Given the description of an element on the screen output the (x, y) to click on. 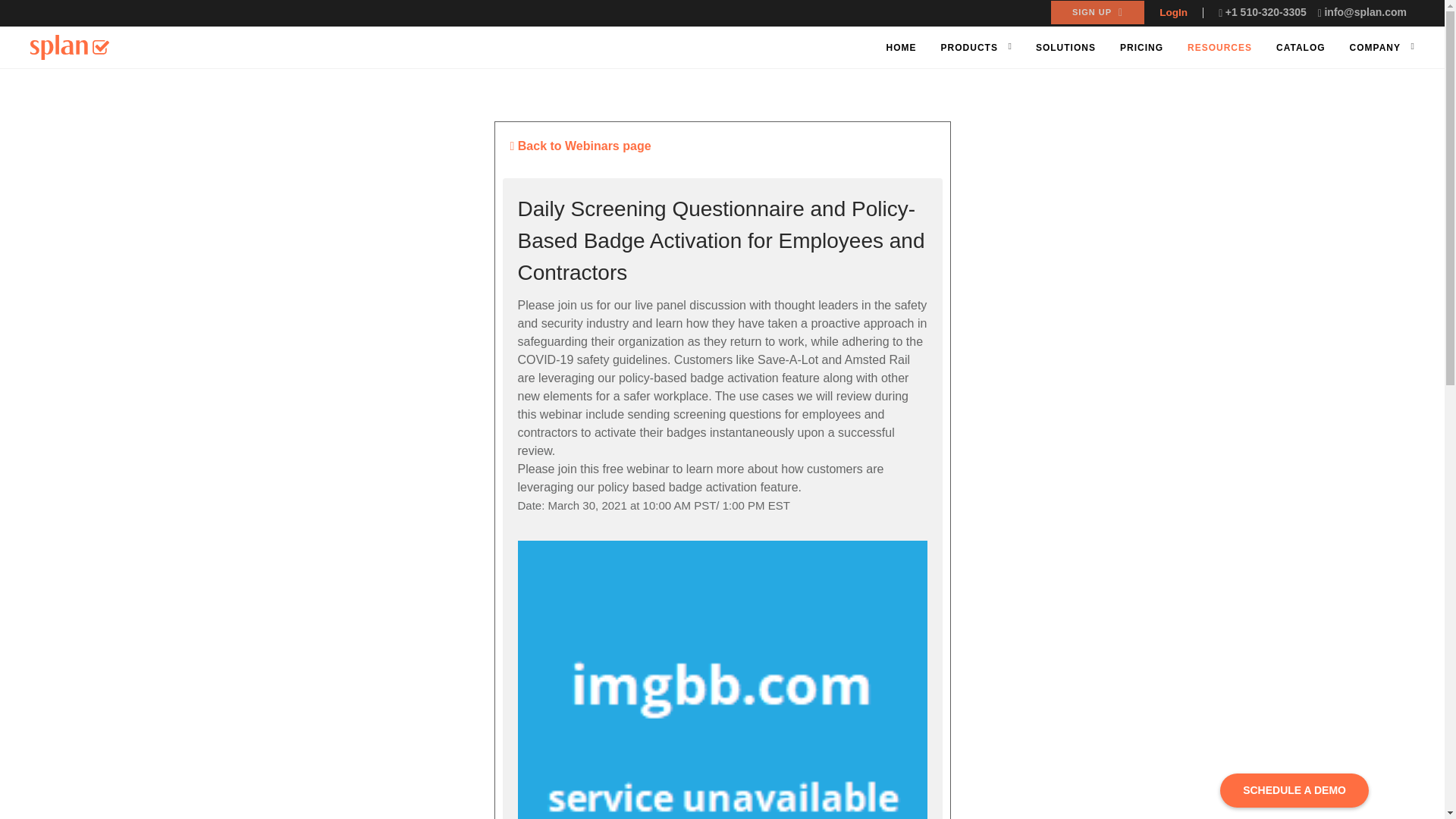
Resources (836, 535)
RESOURCES (1220, 48)
SignInEasy App (698, 649)
PRODUCTS (968, 48)
Integrations (687, 672)
COMPANY (1374, 48)
SOLUTIONS (1065, 48)
SIGN UP (1097, 12)
School Management (709, 581)
About Us (833, 512)
Solutions (834, 558)
LogIn (1173, 12)
CATALOG (1300, 48)
Visitor Management (708, 558)
Deliveries (682, 626)
